Given the description of an element on the screen output the (x, y) to click on. 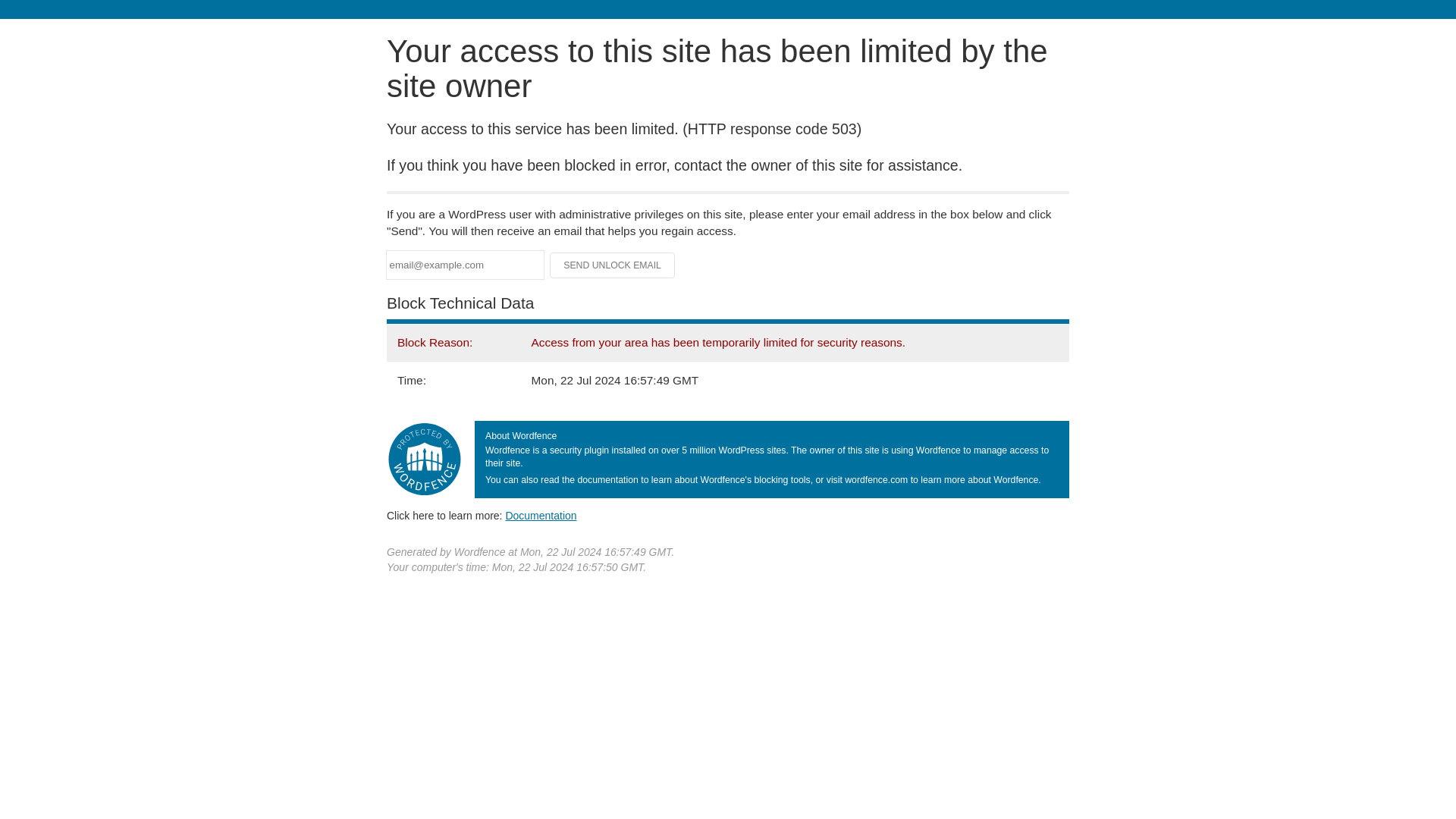
Send Unlock Email (612, 265)
Documentation (540, 515)
Send Unlock Email (612, 265)
